Given the description of an element on the screen output the (x, y) to click on. 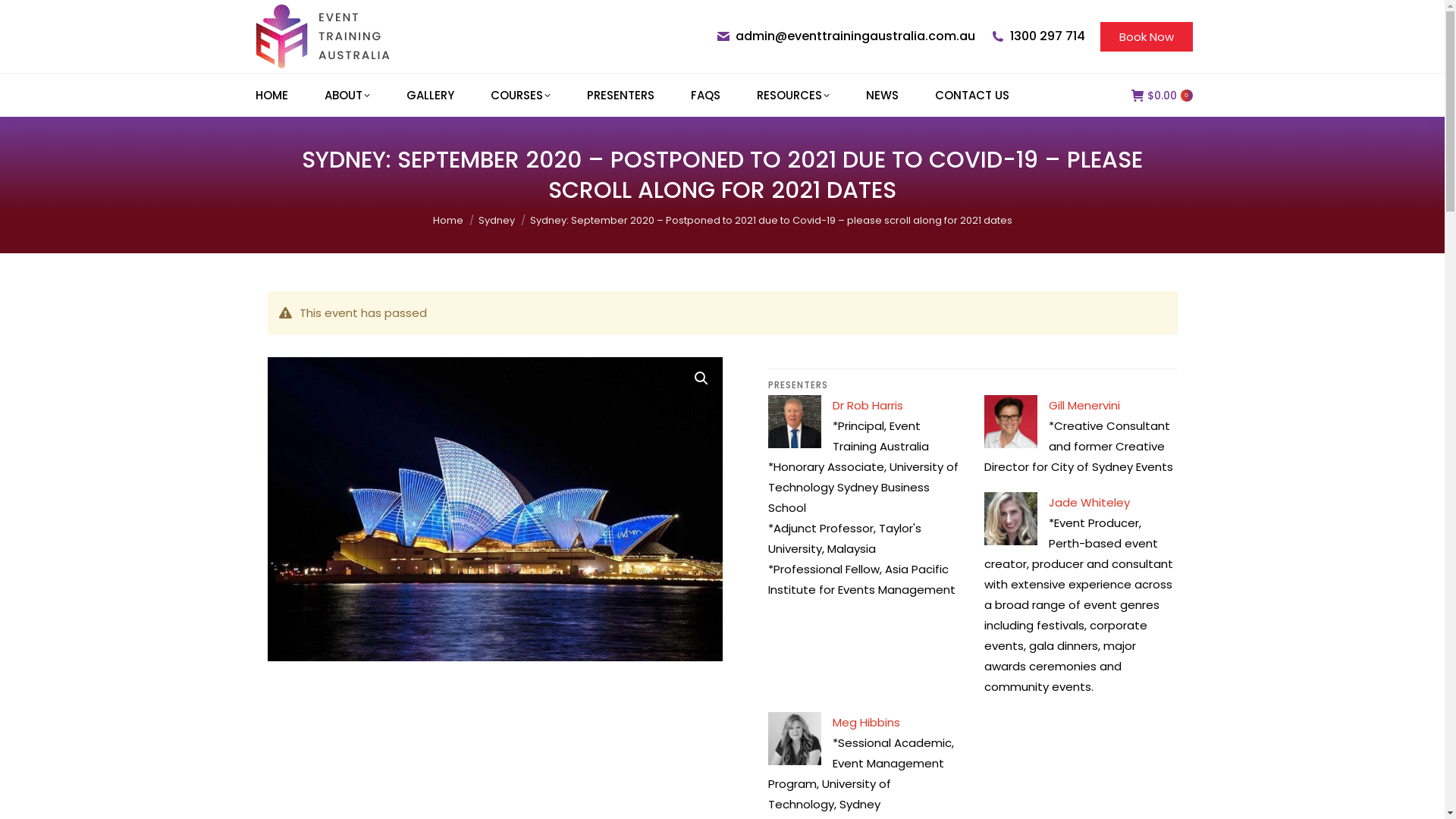
Book Now Element type: text (1145, 35)
event-management-courses-sydney Element type: hover (493, 509)
RESOURCES Element type: text (792, 94)
FAQS Element type: text (704, 94)
Home Element type: text (447, 220)
Jade Whiteley Element type: text (1088, 502)
HOME Element type: text (270, 94)
GALLERY Element type: text (430, 94)
Dr Rob Harris Element type: text (867, 405)
Gill Menervini Element type: text (1083, 405)
PRESENTERS Element type: text (620, 94)
COURSES Element type: text (519, 94)
Meg Hibbins Element type: text (866, 722)
Sydney Element type: text (495, 220)
ABOUT Element type: text (347, 94)
CONTACT US Element type: text (971, 94)
NEWS Element type: text (881, 94)
1300 297 714 Element type: text (1047, 35)
$0.00
0 Element type: text (1161, 94)
